Given the description of an element on the screen output the (x, y) to click on. 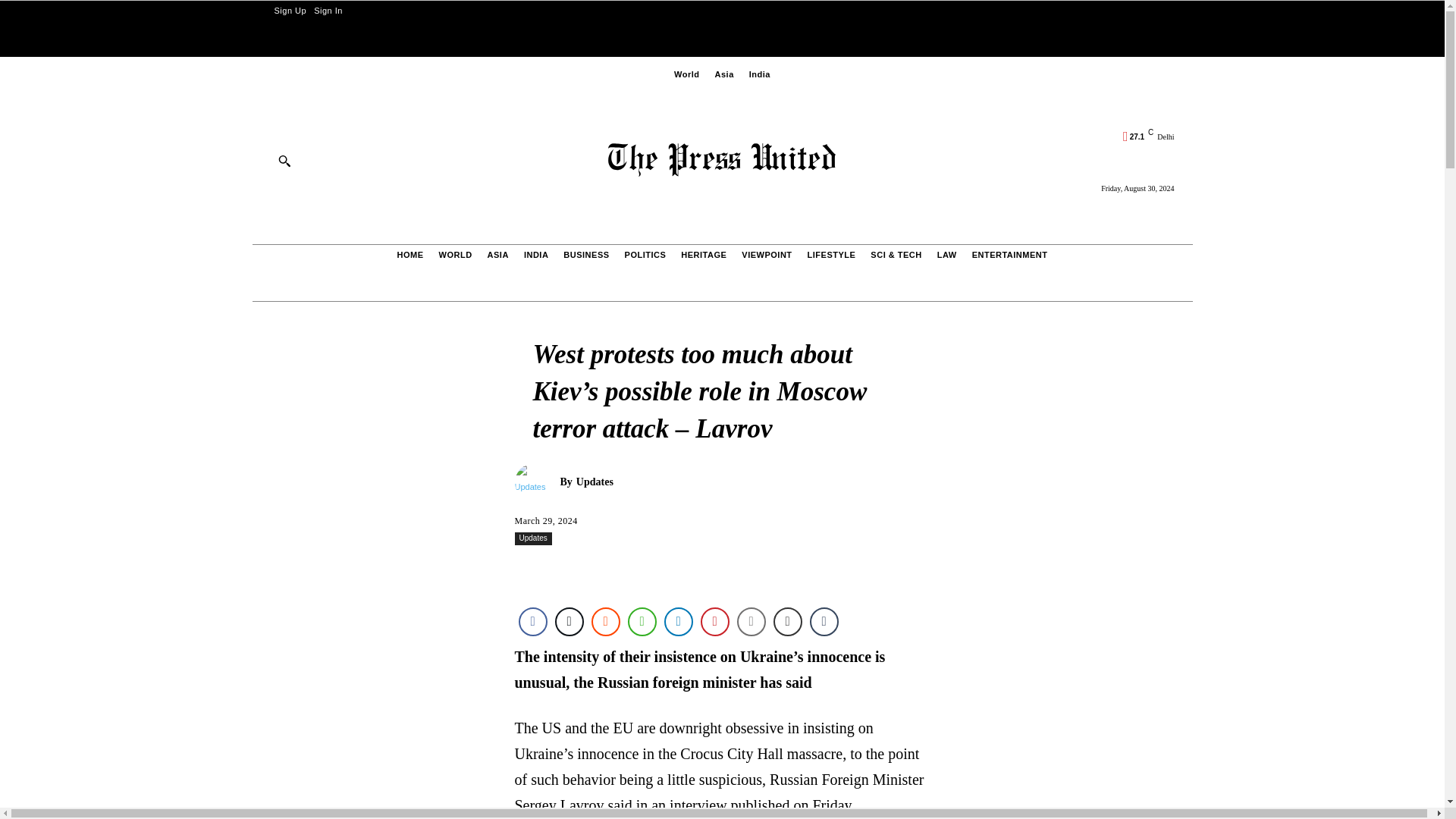
Updates (536, 482)
HOME (410, 254)
INDIA (535, 254)
BUSINESS (585, 254)
LIFESTYLE (831, 254)
Sign In (328, 10)
Asia (724, 74)
VIEWPOINT (766, 254)
World (686, 74)
ENTERTAINMENT (1009, 254)
